Given the description of an element on the screen output the (x, y) to click on. 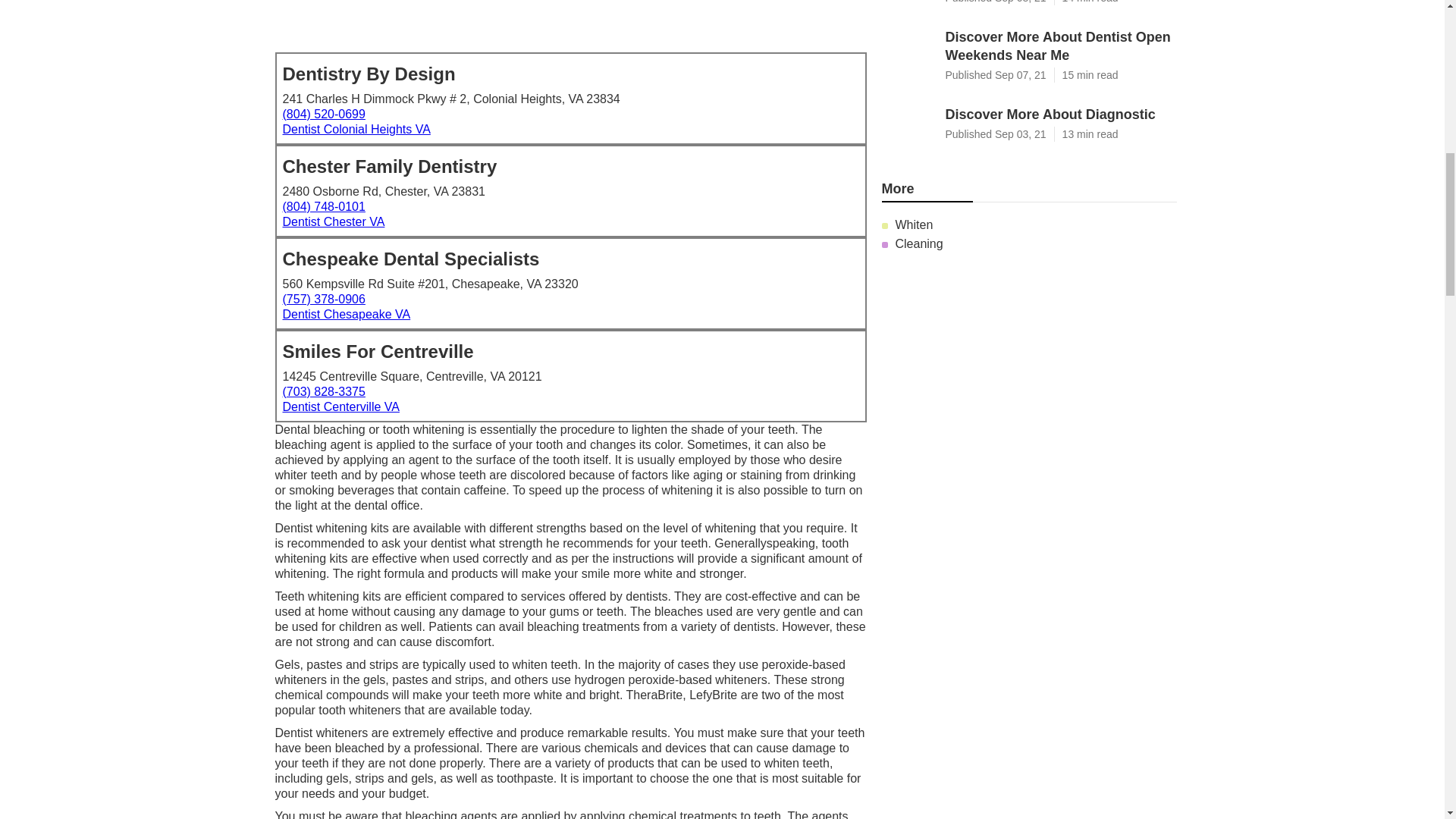
Dentist Centerville VA (340, 406)
Dentist Chester VA (333, 221)
Dentist Chesapeake VA (346, 314)
Dentist Colonial Heights VA (355, 128)
